Given the description of an element on the screen output the (x, y) to click on. 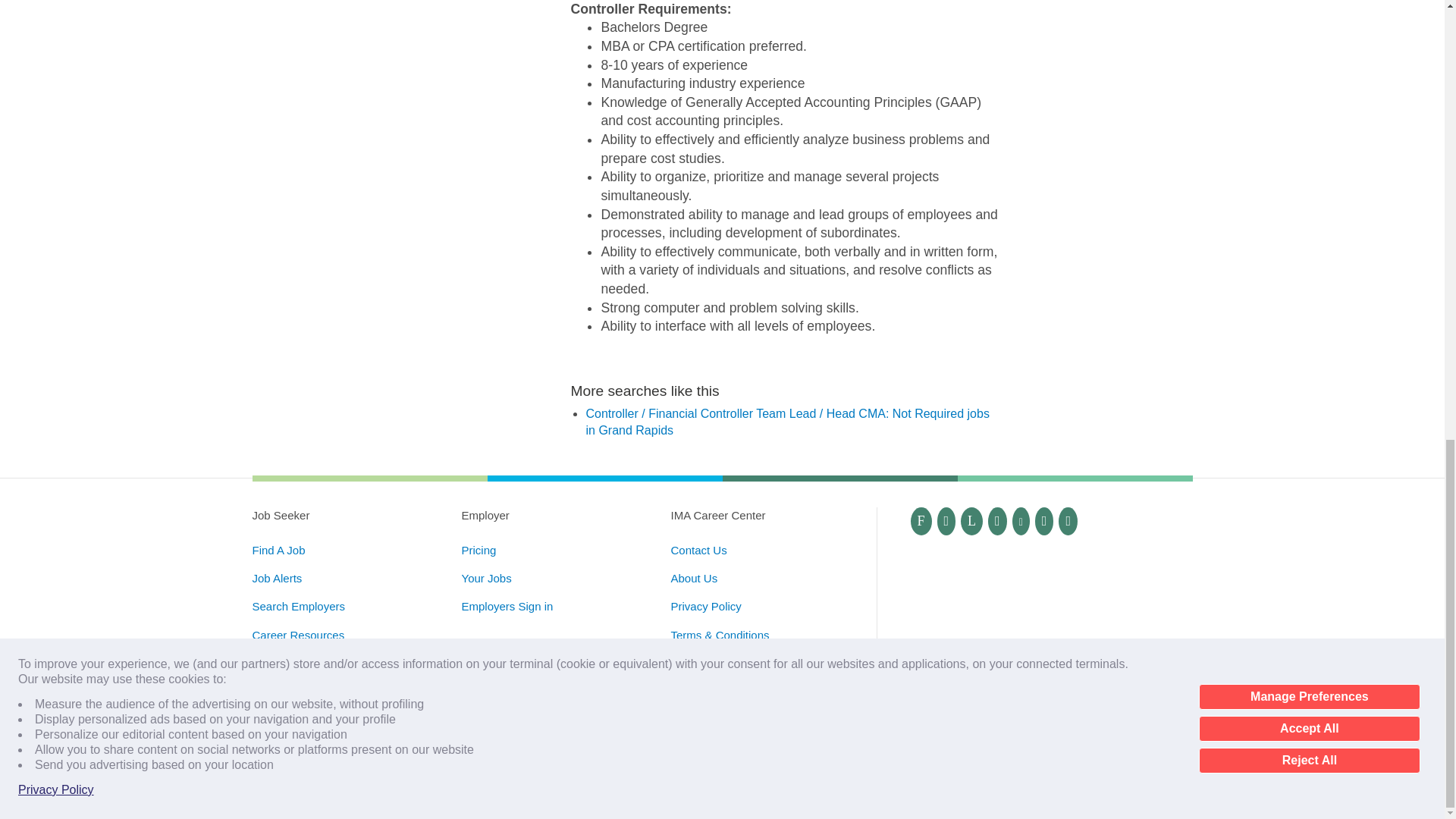
Find A Job (277, 549)
Search Employers (298, 605)
Job Alerts (276, 577)
Career Resources (297, 634)
